Given the description of an element on the screen output the (x, y) to click on. 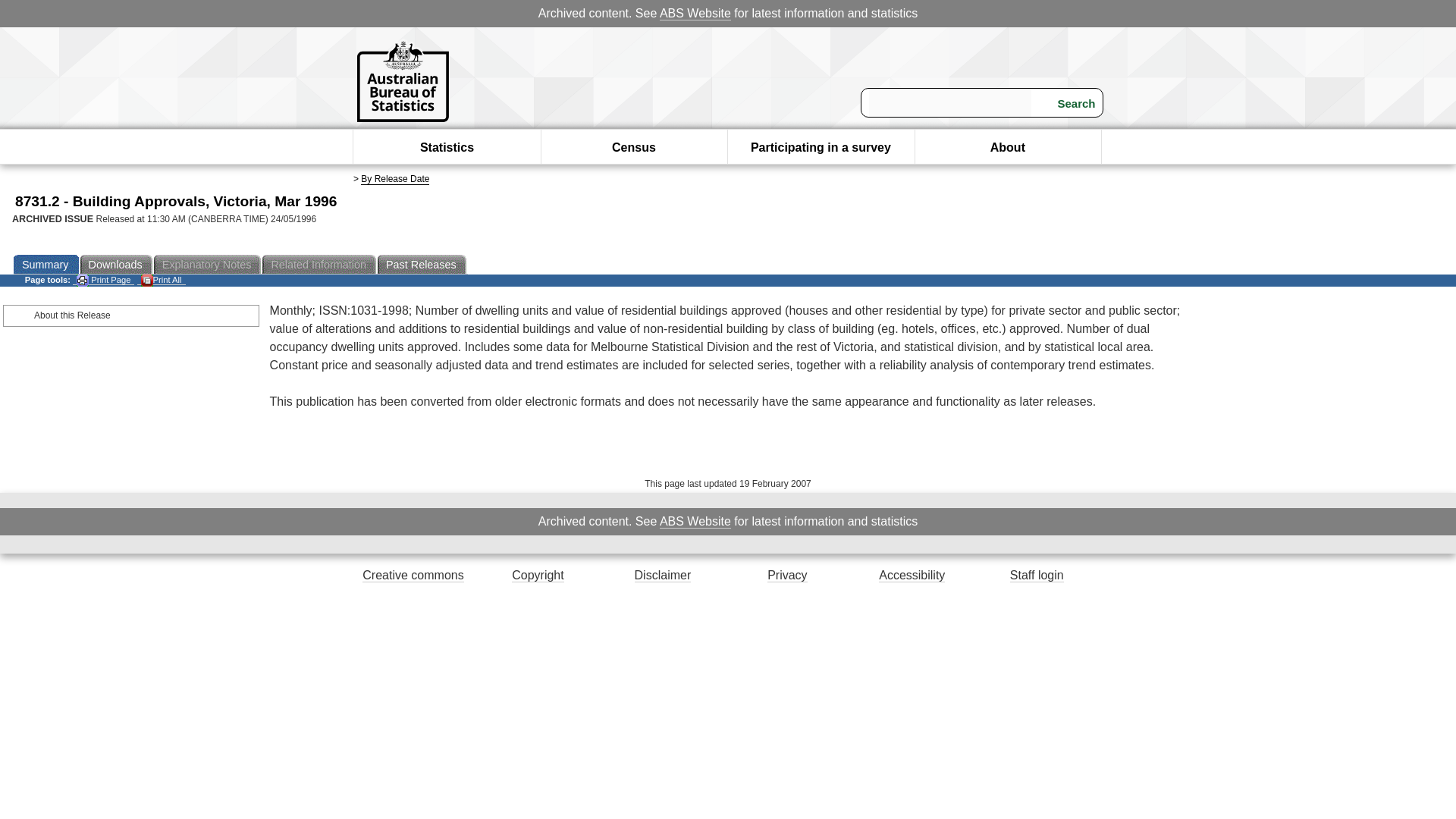
Privacy (786, 575)
Search (1066, 102)
Related Information (319, 264)
Creative commons (412, 575)
Accessibility (911, 575)
Participating in a survey (821, 147)
Explanatory Notes (208, 264)
ABS Website (694, 521)
View by Release Date (395, 179)
Print Page (102, 280)
Summary (46, 264)
Census (633, 147)
ABS Website (694, 13)
About (1007, 147)
Downloads (117, 264)
